Given the description of an element on the screen output the (x, y) to click on. 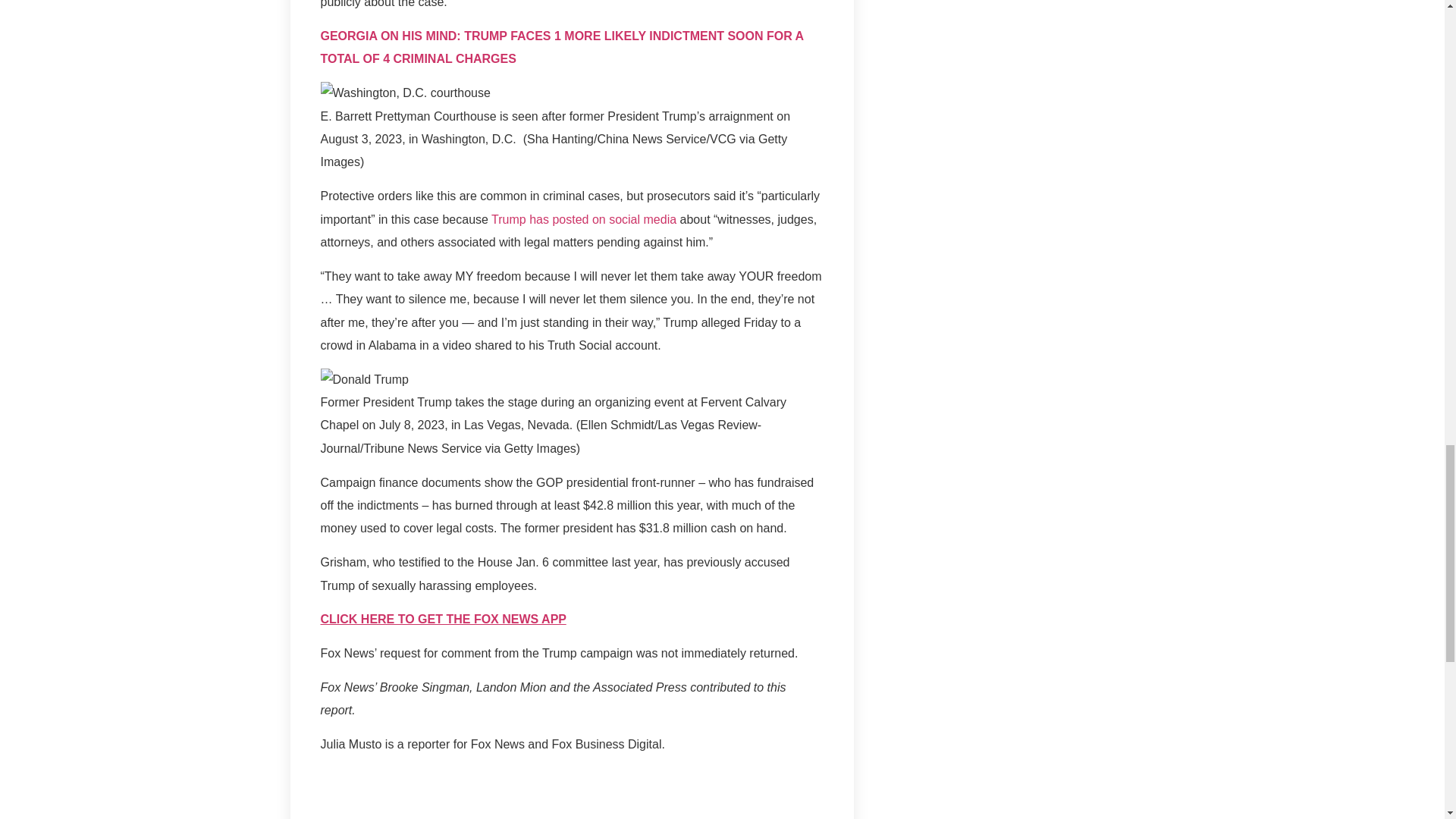
Trump has posted on social media (584, 219)
Source link (350, 818)
CLICK HERE TO GET THE FOX NEWS APP (443, 618)
